Given the description of an element on the screen output the (x, y) to click on. 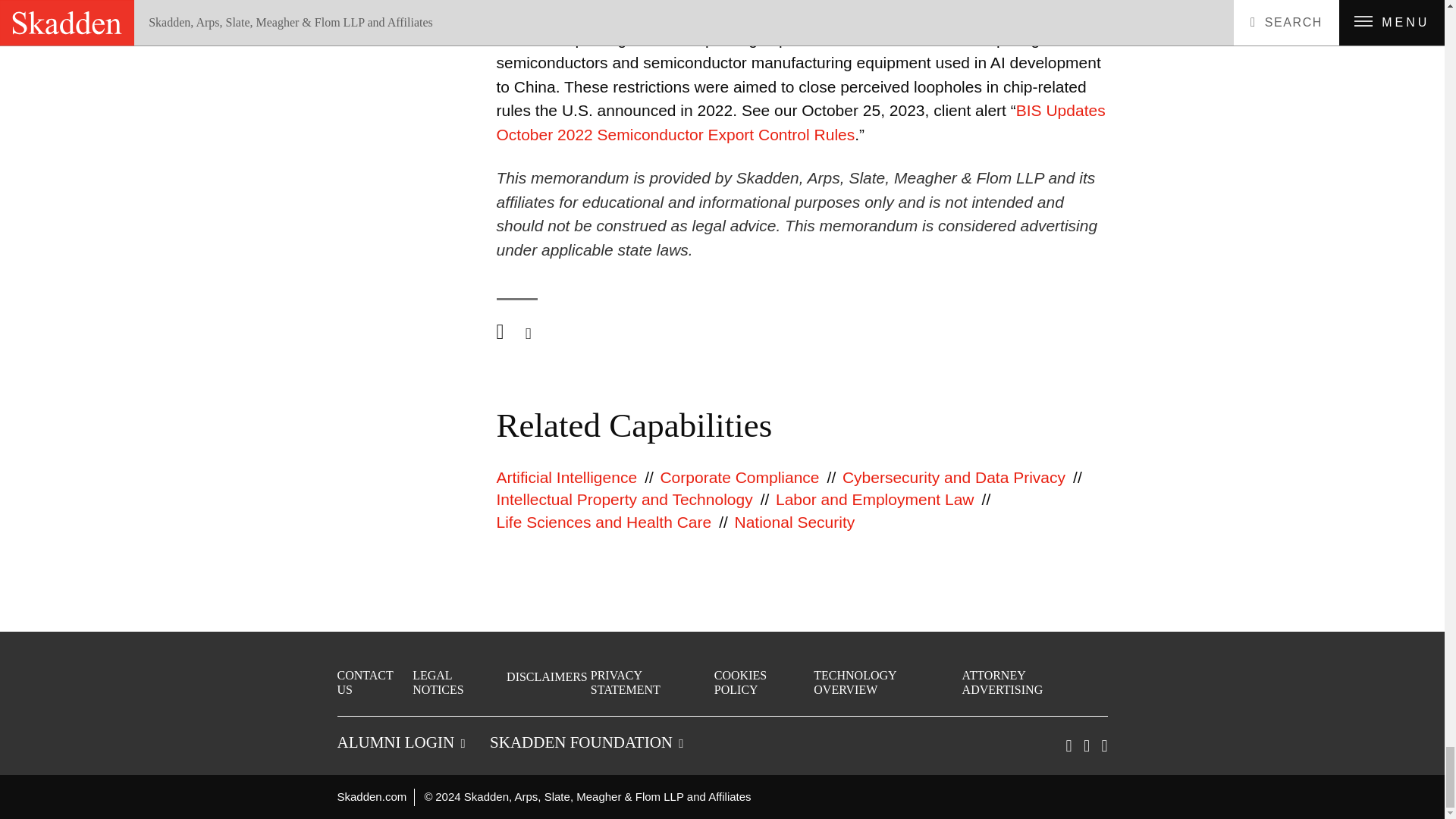
Navigate to Skadden Foundation section (585, 742)
Navigate to Alumni Login section (400, 742)
